Given the description of an element on the screen output the (x, y) to click on. 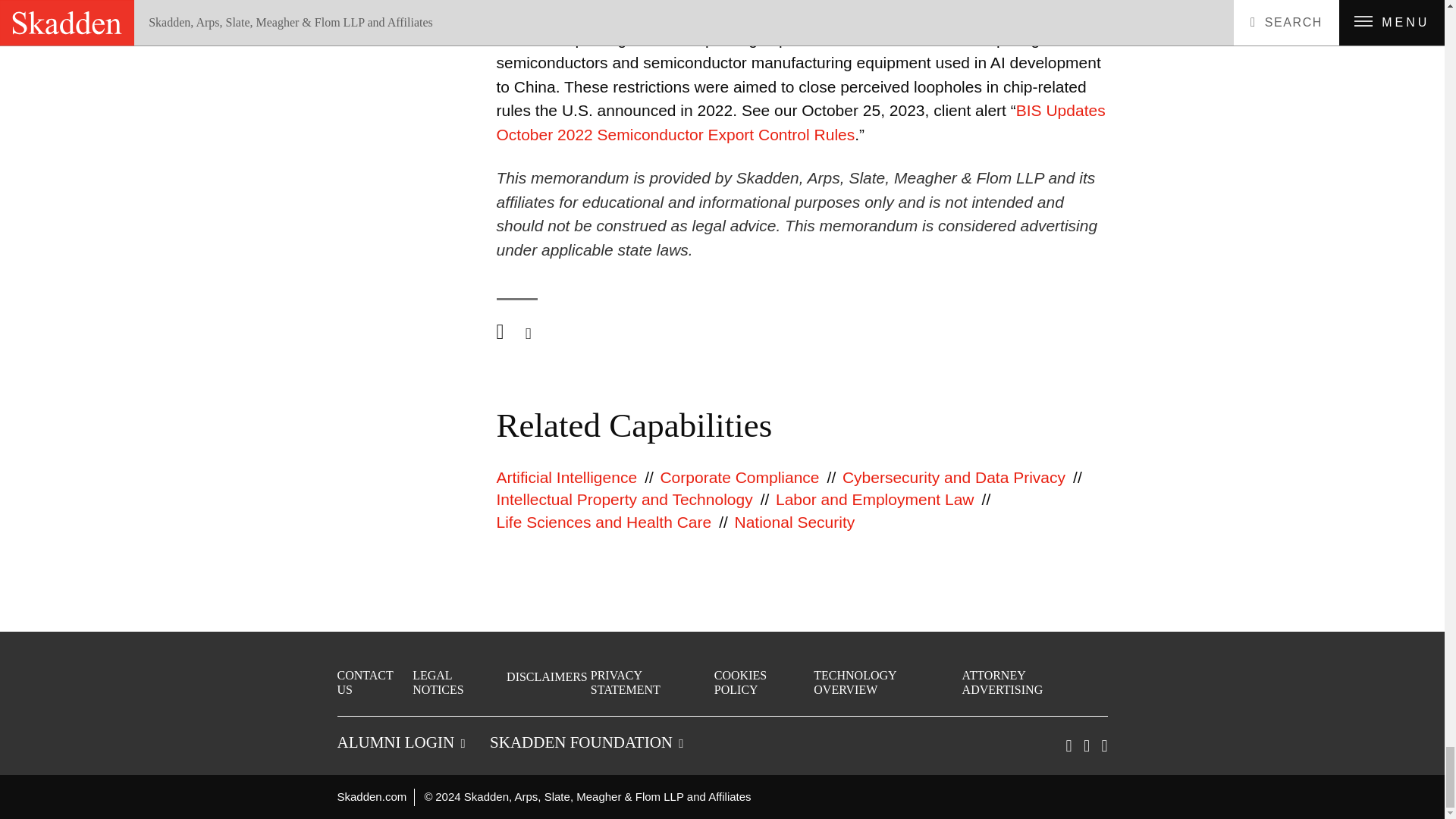
Navigate to Skadden Foundation section (585, 742)
Navigate to Alumni Login section (400, 742)
